Given the description of an element on the screen output the (x, y) to click on. 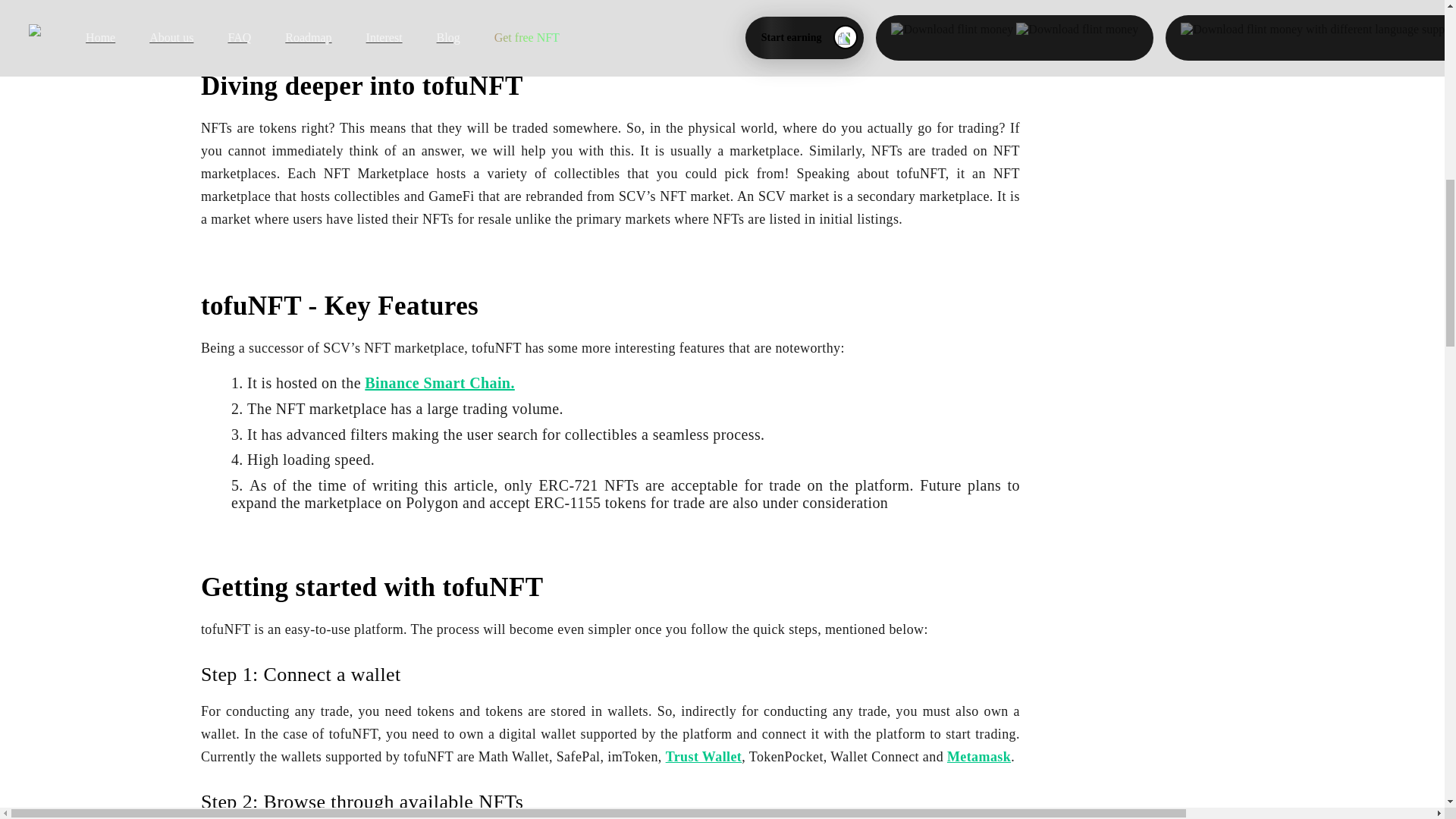
Binance Smart Chain. (439, 382)
Trust Wallet (703, 756)
Metamask (978, 756)
